Given the description of an element on the screen output the (x, y) to click on. 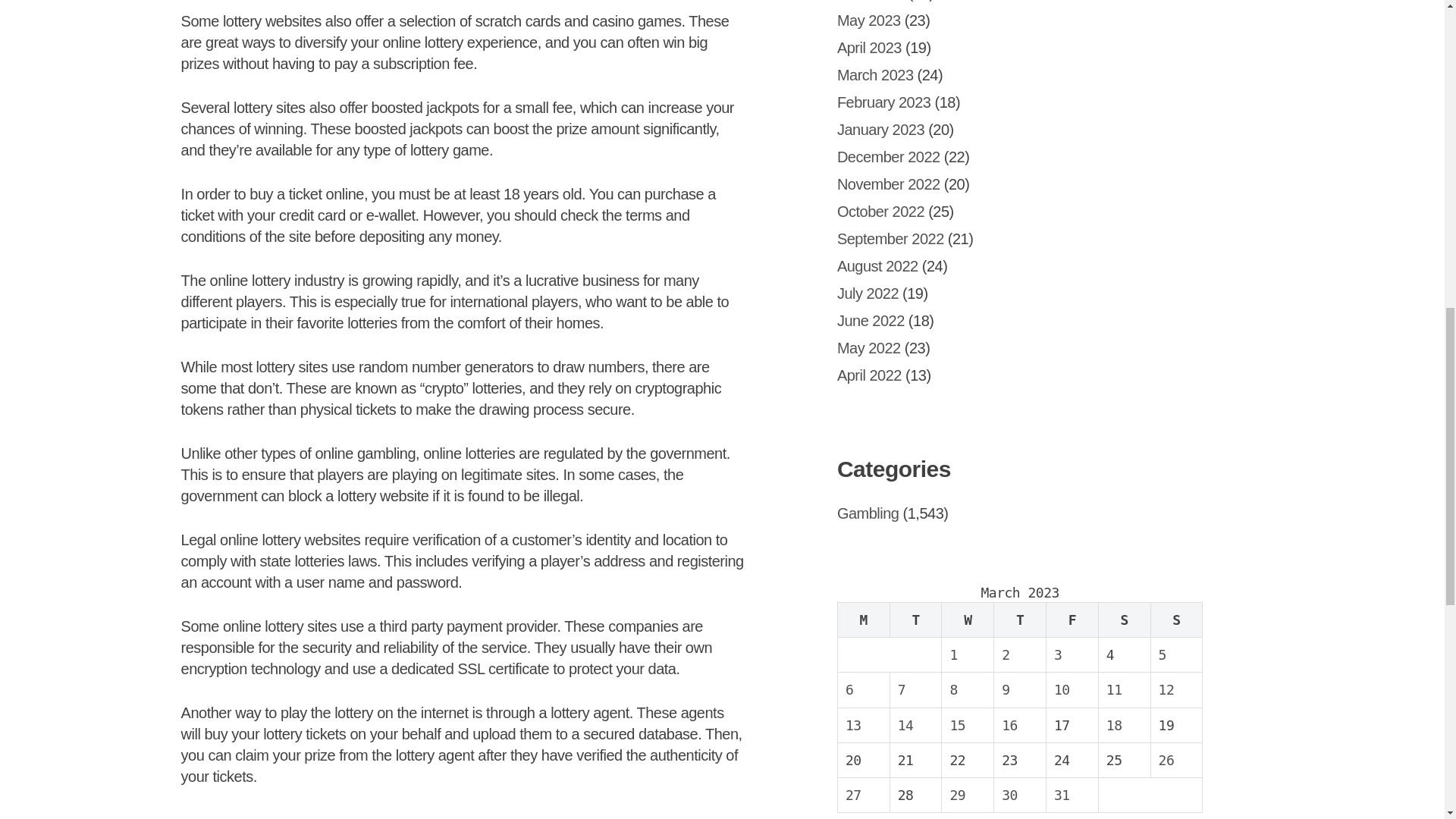
June 2023 (870, 0)
October 2022 (880, 211)
Thursday (1020, 619)
April 2022 (869, 375)
August 2022 (877, 265)
Friday (1072, 619)
February 2023 (884, 102)
September 2022 (890, 238)
Gambling (868, 513)
January 2023 (880, 129)
